Given the description of an element on the screen output the (x, y) to click on. 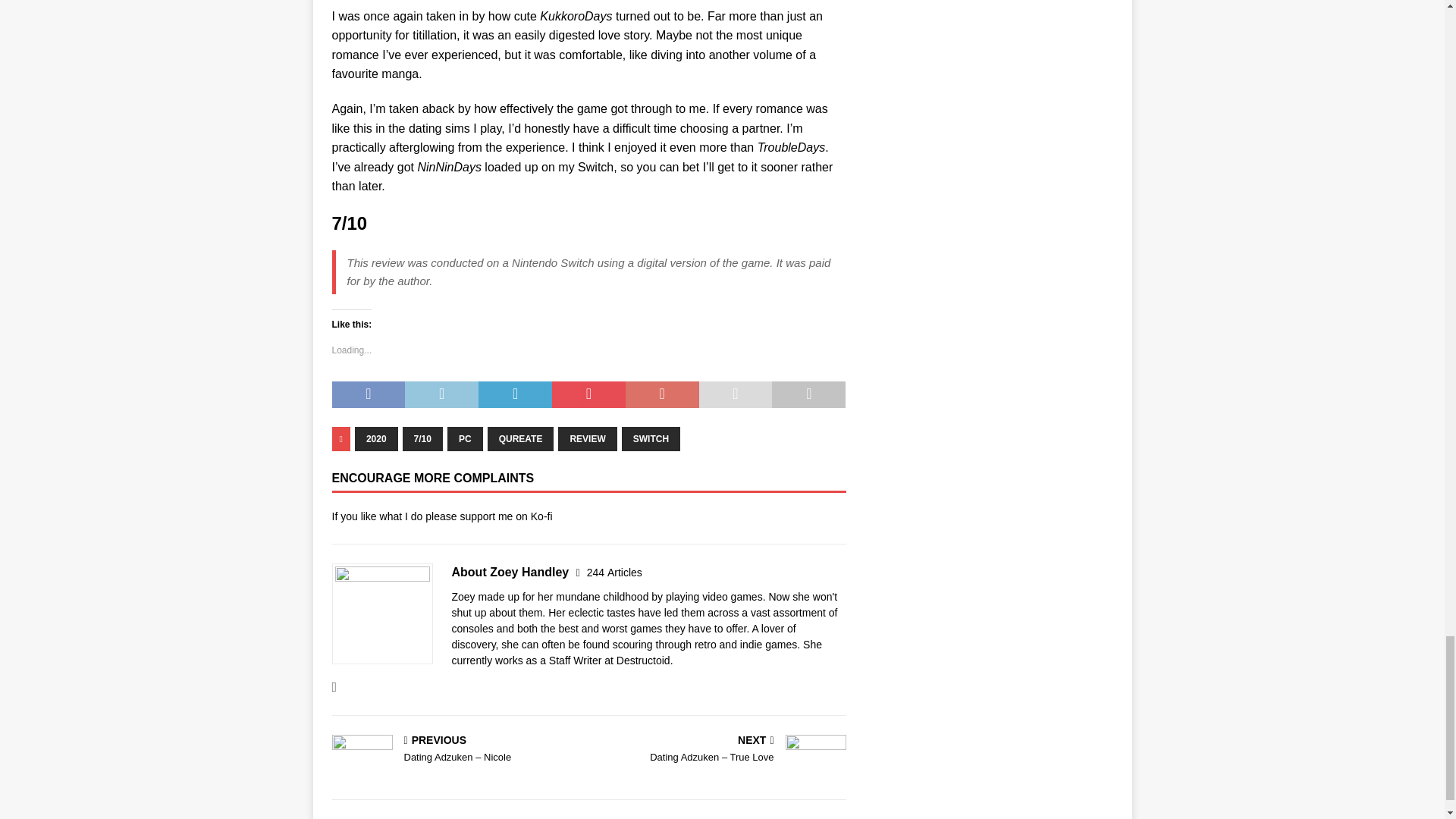
Follow Zoey Handley on Twitter (334, 686)
PC (464, 438)
SWITCH (650, 438)
244 Articles (614, 572)
QUREATE (520, 438)
More articles written by Zoey Handley' (614, 572)
REVIEW (586, 438)
2020 (376, 438)
